Given the description of an element on the screen output the (x, y) to click on. 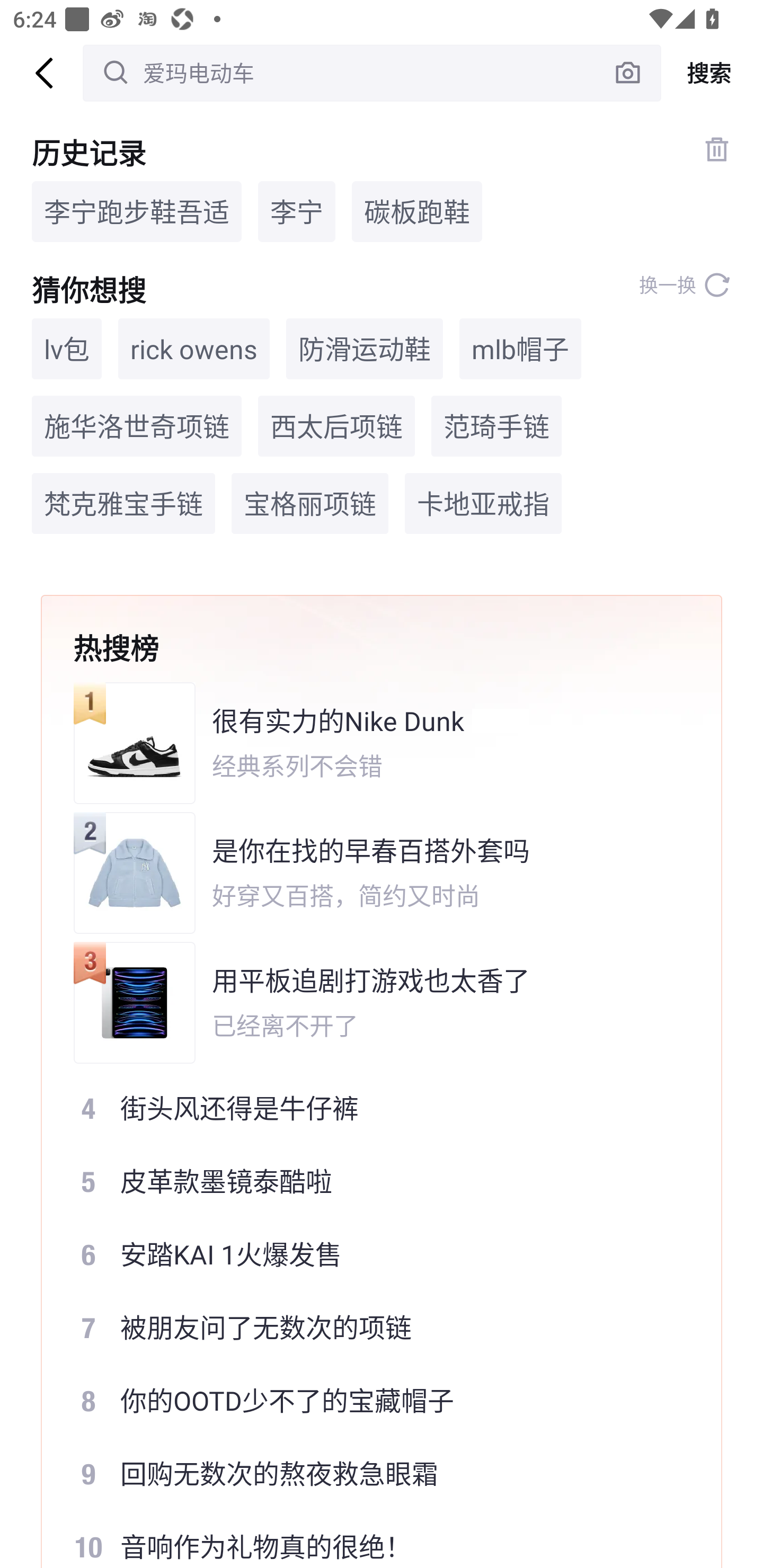
搜索 (712, 72)
爱玛电动车 (371, 72)
李宁跑步鞋吾适 (136, 211)
李宁 (296, 211)
碳板跑鞋 (416, 211)
换一换 (684, 285)
lv包 (66, 348)
rick owens (193, 348)
防滑运动鞋 (364, 348)
mlb帽子 (520, 348)
施华洛世奇项链 (136, 425)
西太后项链 (336, 425)
范琦手链 (496, 425)
梵克雅宝手链 (123, 503)
宝格丽项链 (309, 503)
卡地亚戒指 (483, 503)
很有实力的Nike Dunk 经典系列不会错 (369, 743)
是你在找的早春百搭外套吗 好穿又百搭，简约又时尚 (369, 873)
用平板追剧打游戏也太香了 已经离不开了 (369, 1002)
4 街头风还得是牛仔裤 (369, 1107)
5 皮革款墨镜泰酷啦 (369, 1181)
6 安踏KAI 1火爆发售 (369, 1254)
7 被朋友问了无数次的项链 (369, 1327)
8 你的OOTD少不了的宝藏帽子 (369, 1400)
9 回购无数次的熬夜救急眼霜 (369, 1473)
10 音响作为礼物真的很绝！ (369, 1538)
